Given the description of an element on the screen output the (x, y) to click on. 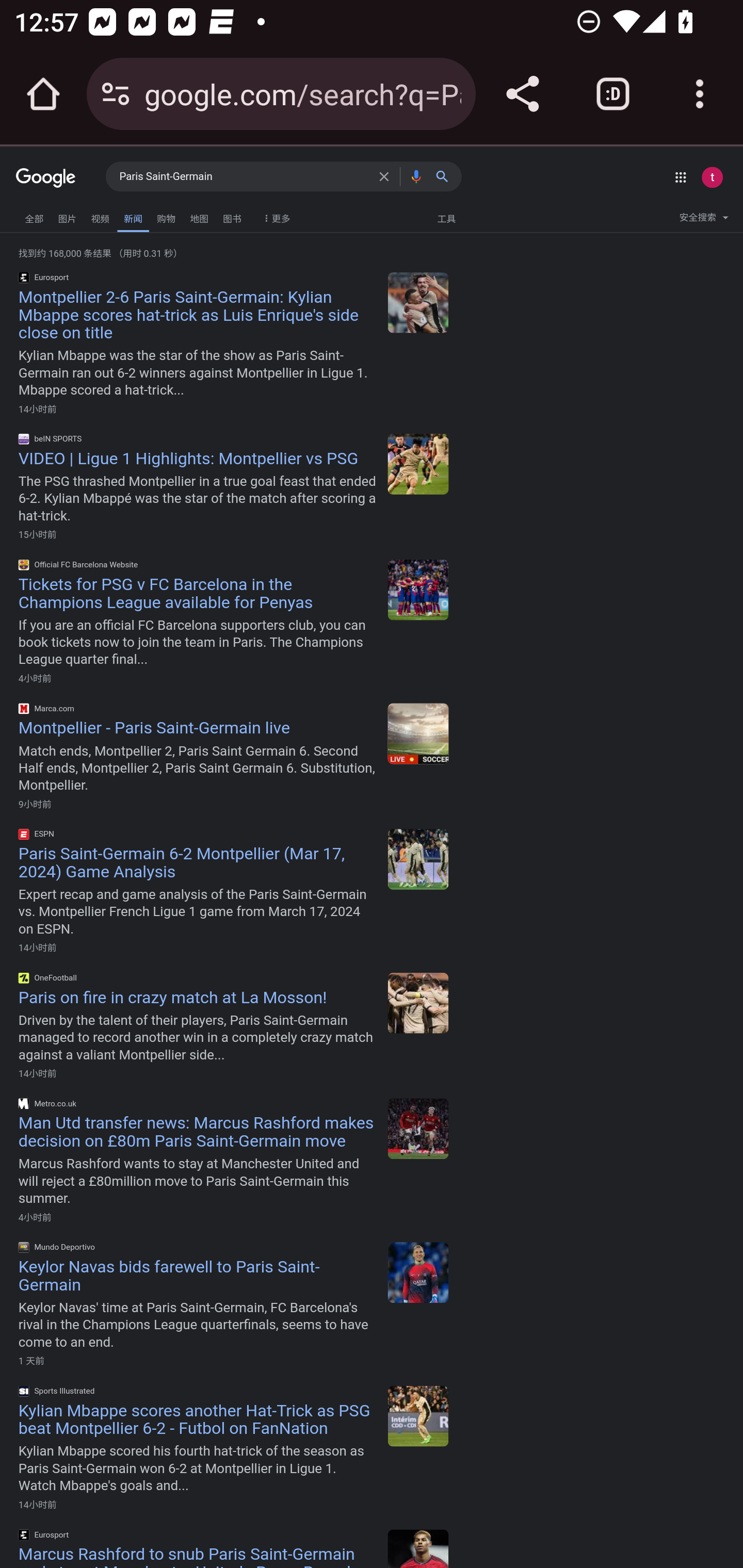
Open the home page (43, 93)
Connection is secure (115, 93)
Share (522, 93)
Switch or close tabs (612, 93)
Customize and control Google Chrome (699, 93)
清除 (386, 176)
按语音搜索 (415, 176)
Google 搜索 (446, 176)
Google 应用 (680, 176)
Google 账号： test appium (testappium002@gmail.com) (712, 176)
Google (45, 178)
Paris Saint-Germain (244, 177)
全部 (33, 216)
图片 (67, 216)
视频 (99, 216)
新闻 (133, 217)
购物 (166, 216)
地图 (199, 216)
图书 (232, 216)
More Filters (273, 213)
安全搜索 (703, 219)
工具 (446, 217)
